Given the description of an element on the screen output the (x, y) to click on. 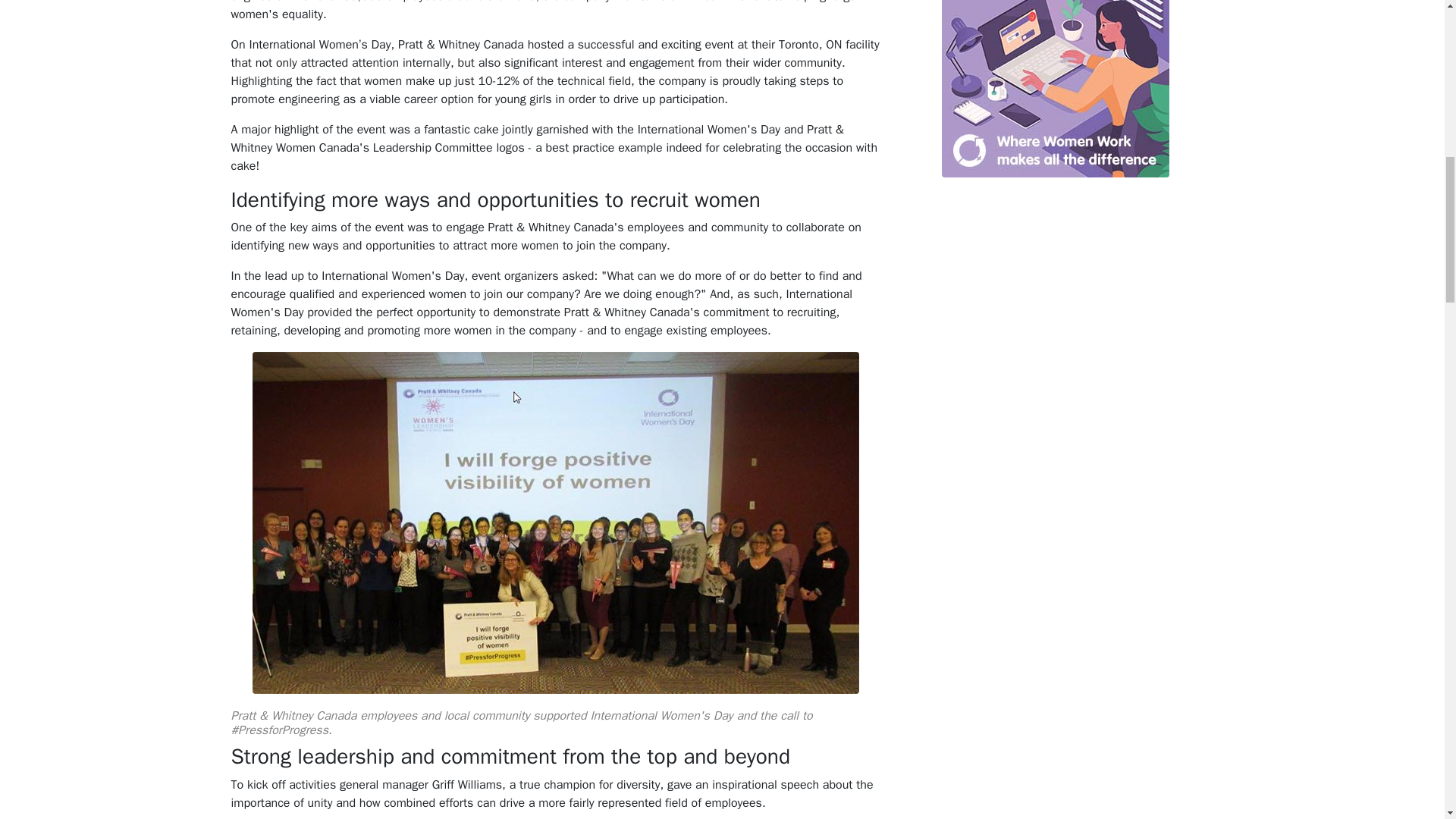
Where Women Work (1055, 88)
